Given the description of an element on the screen output the (x, y) to click on. 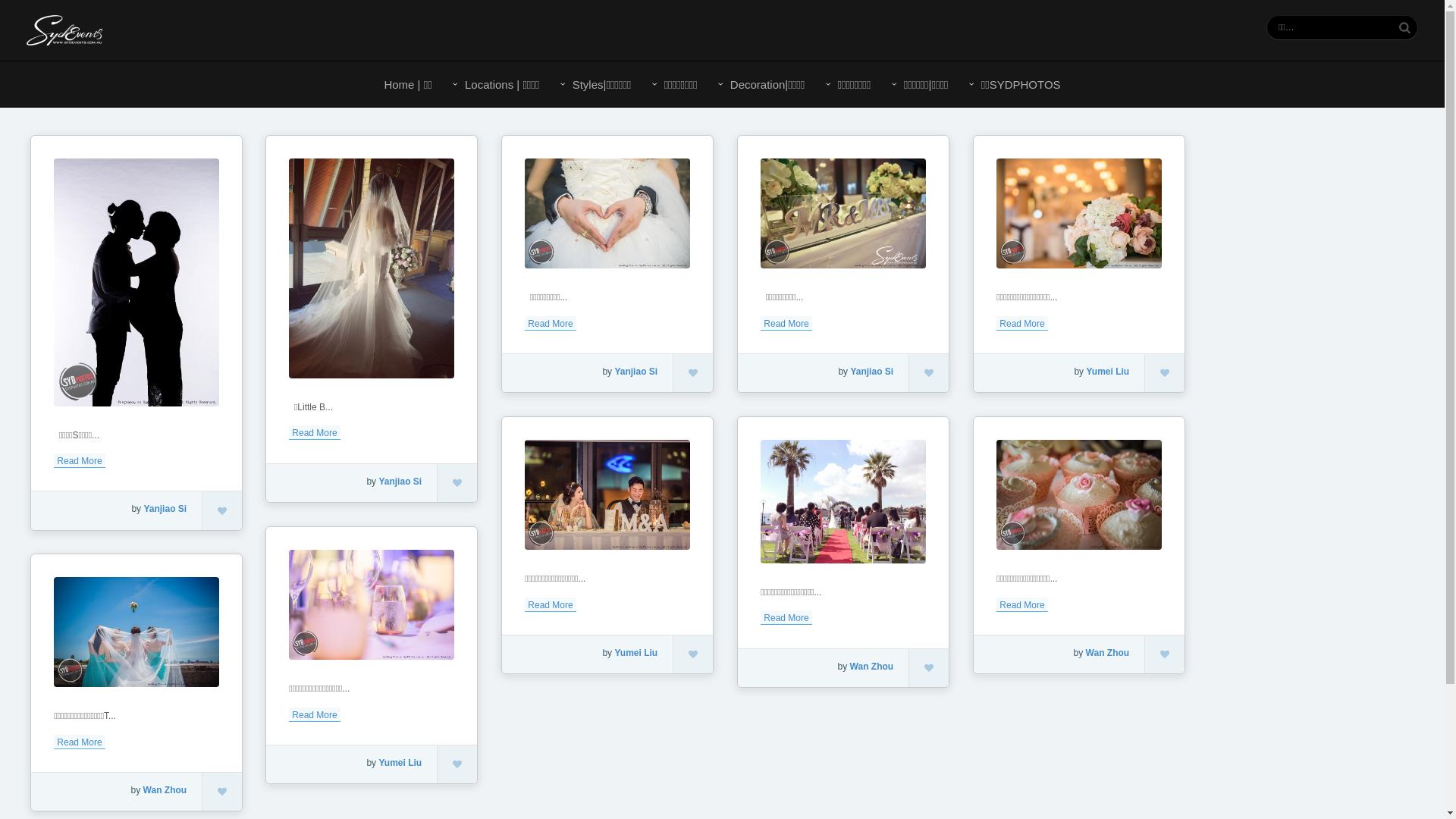
Yanjiao Si Element type: text (399, 481)
Like this Element type: hover (456, 482)
Read More Element type: text (313, 432)
Read More Element type: text (785, 617)
Like this Element type: hover (928, 372)
Like this Element type: hover (1164, 372)
Like this Element type: hover (456, 764)
Like this Element type: hover (221, 791)
Yanjiao Si Element type: text (635, 371)
Read More Element type: text (78, 460)
Yumei Liu Element type: text (1107, 371)
Like this Element type: hover (1164, 654)
Read More Element type: text (78, 741)
Yanjiao Si Element type: text (871, 371)
Yumei Liu Element type: text (399, 762)
Wan Zhou Element type: text (1107, 652)
Read More Element type: text (1021, 323)
Read More Element type: text (1021, 604)
Like this Element type: hover (692, 654)
Yanjiao Si Element type: text (164, 508)
Wan Zhou Element type: text (872, 666)
Wan Zhou Element type: text (165, 789)
Like this Element type: hover (928, 667)
Like this Element type: hover (221, 510)
Like this Element type: hover (692, 372)
Read More Element type: text (313, 714)
Read More Element type: text (785, 323)
Read More Element type: text (549, 323)
Read More Element type: text (549, 604)
Yumei Liu Element type: text (635, 652)
